Given the description of an element on the screen output the (x, y) to click on. 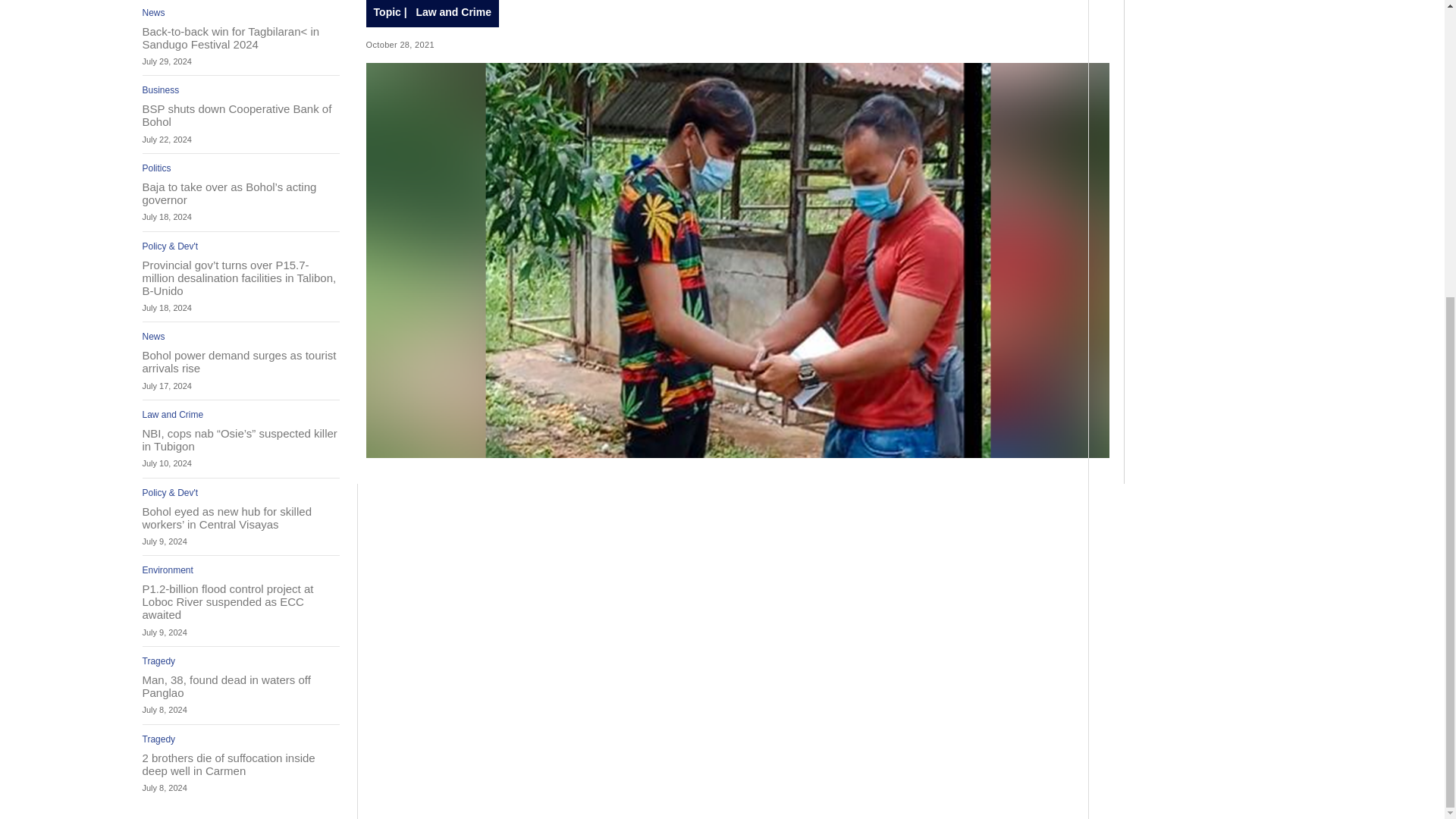
Bohol power demand surges as tourist arrivals rise (240, 361)
Business (160, 90)
News (153, 336)
Law and Crime (172, 414)
News (153, 12)
Politics (156, 167)
BSP shuts down Cooperative Bank of Bohol (240, 114)
